Given the description of an element on the screen output the (x, y) to click on. 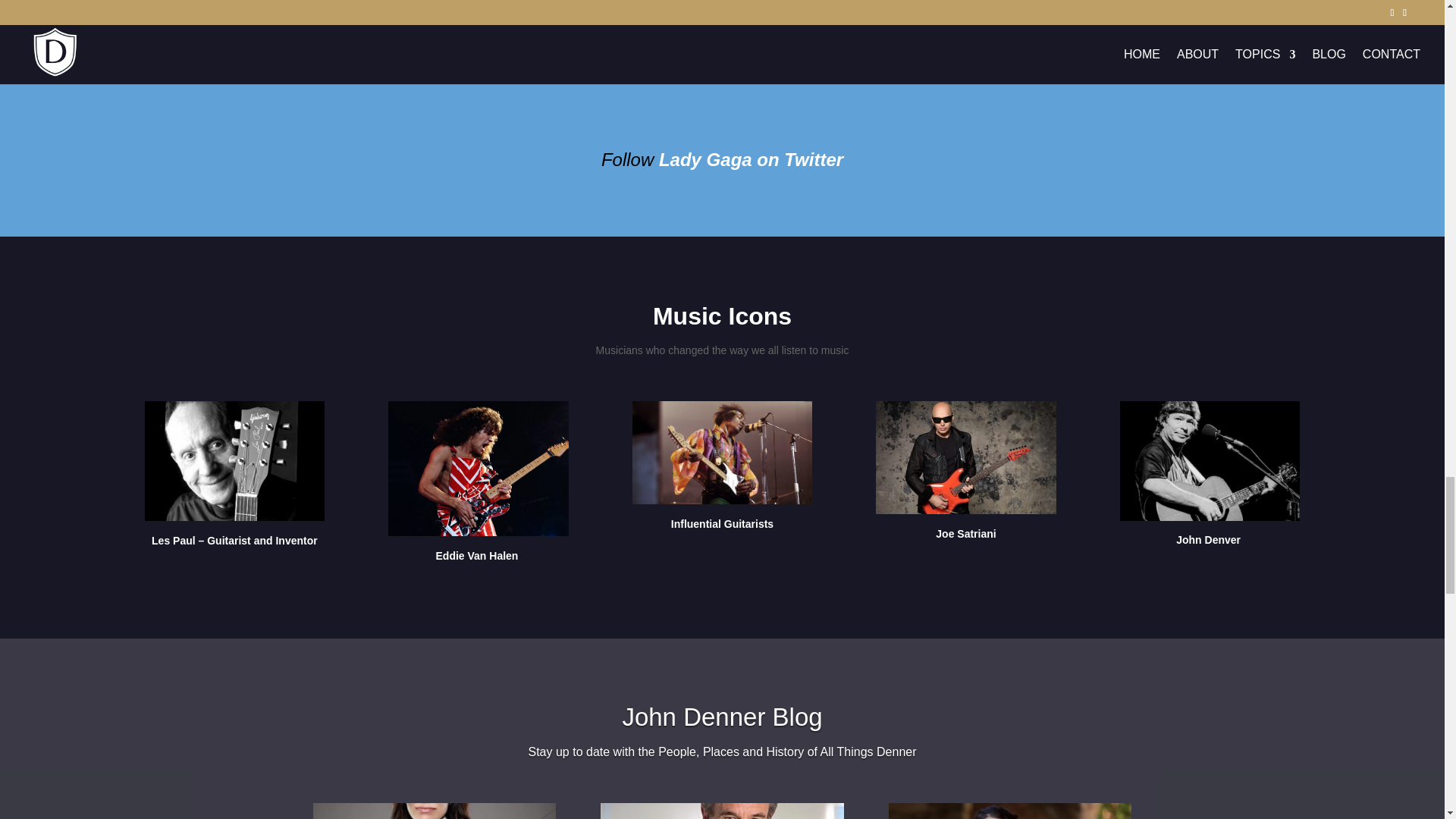
Influential Guitarists (722, 523)
Eddie Van Halen  (478, 555)
Lady Gaga on Twitter (751, 159)
Eddie Van Halen  (478, 555)
Biography.com (545, 32)
Joe Satriani (965, 533)
Les Paul (173, 540)
Eddie Van Halen (478, 468)
Lady Gaga Biography (545, 32)
Inventor of the Electric Guitar Les Paul (234, 460)
Les Paul  (173, 540)
Lady Gaga on Twitter (751, 159)
